Given the description of an element on the screen output the (x, y) to click on. 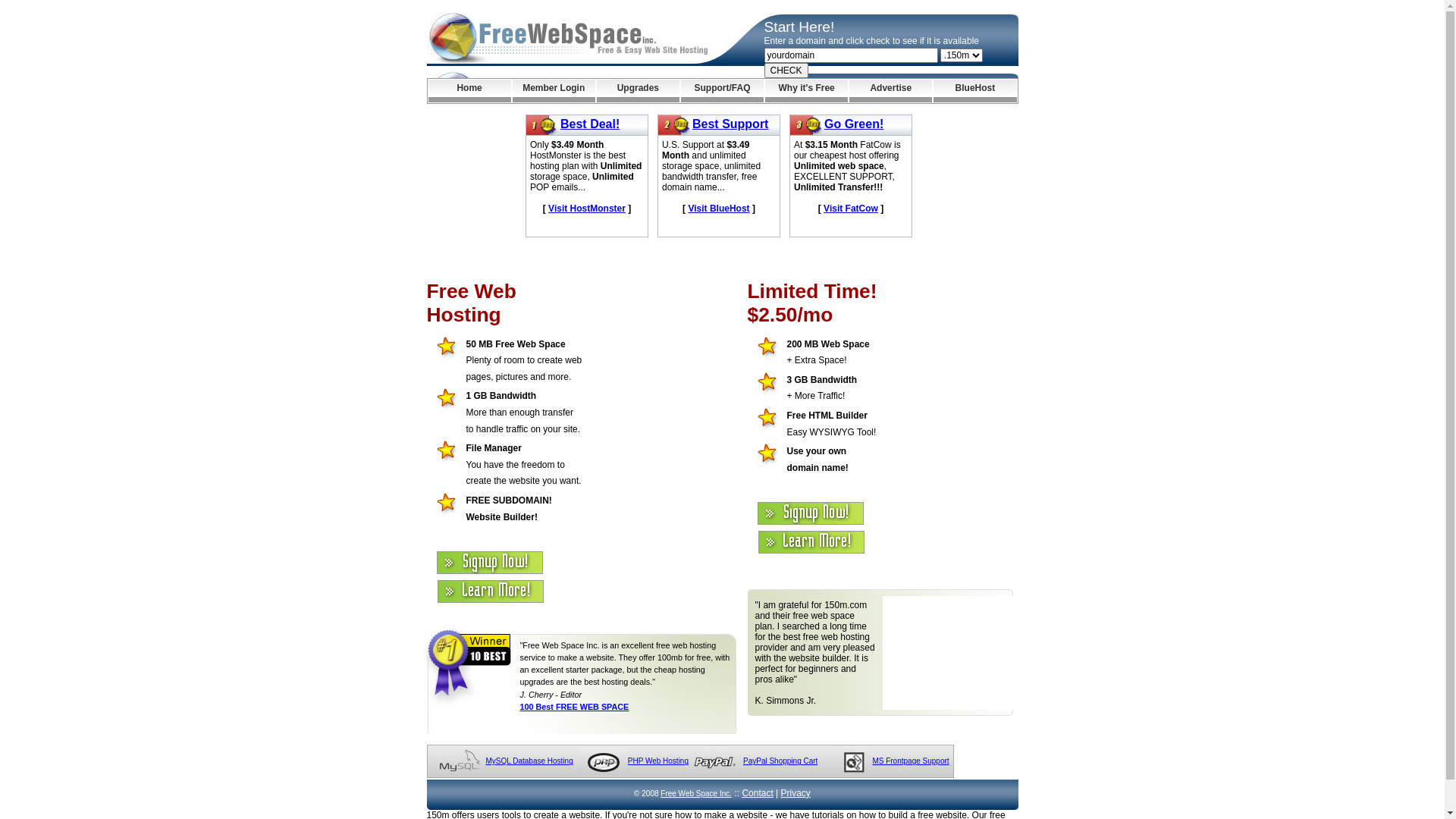
100 Best FREE WEB SPACE Element type: text (574, 706)
Contact Element type: text (756, 792)
MySQL Database Hosting Element type: text (528, 760)
Free Web Space Inc. Element type: text (695, 793)
PHP Web Hosting Element type: text (657, 760)
Member Login Element type: text (553, 90)
Advertise Element type: text (890, 90)
Privacy Element type: text (795, 792)
Why it's Free Element type: text (806, 90)
Upgrades Element type: text (637, 90)
Home Element type: text (468, 90)
PayPal Shopping Cart Element type: text (780, 760)
BlueHost Element type: text (974, 90)
Support/FAQ Element type: text (721, 90)
CHECK Element type: text (786, 70)
MS Frontpage Support Element type: text (910, 760)
